Given the description of an element on the screen output the (x, y) to click on. 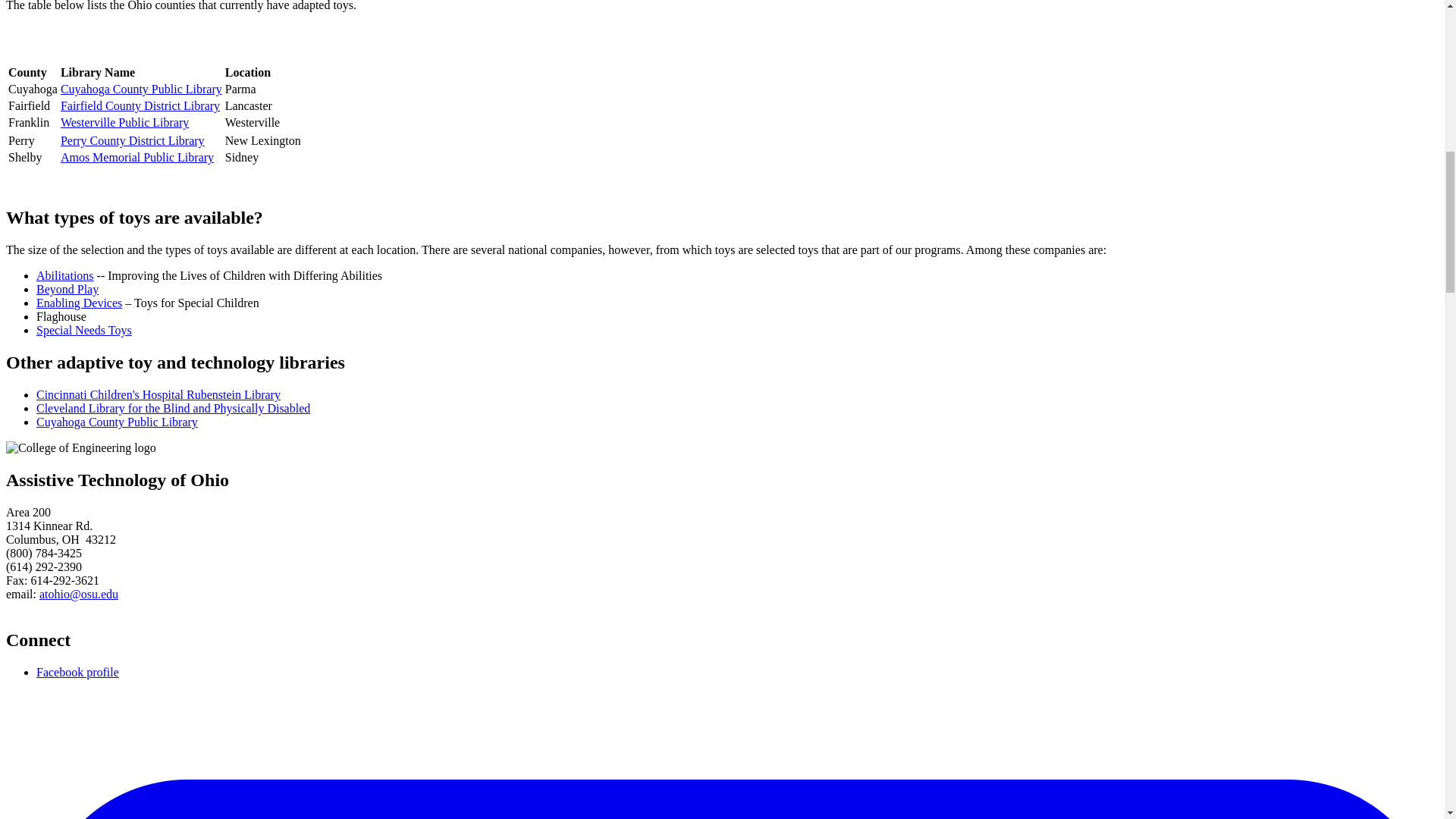
Cuyahoga County Public Library (141, 88)
Abilitations Catalog (65, 275)
Cincinnati Children's Hospital Rubenstein Library (158, 394)
Westerville Public Library (125, 122)
Perry County District Library (133, 140)
Cuyahoga County Public Library (117, 421)
Enabling Devices (79, 302)
Fairfield County District Library (140, 105)
Special Needs Toys (84, 329)
Fairfield County District Library (140, 105)
